Given the description of an element on the screen output the (x, y) to click on. 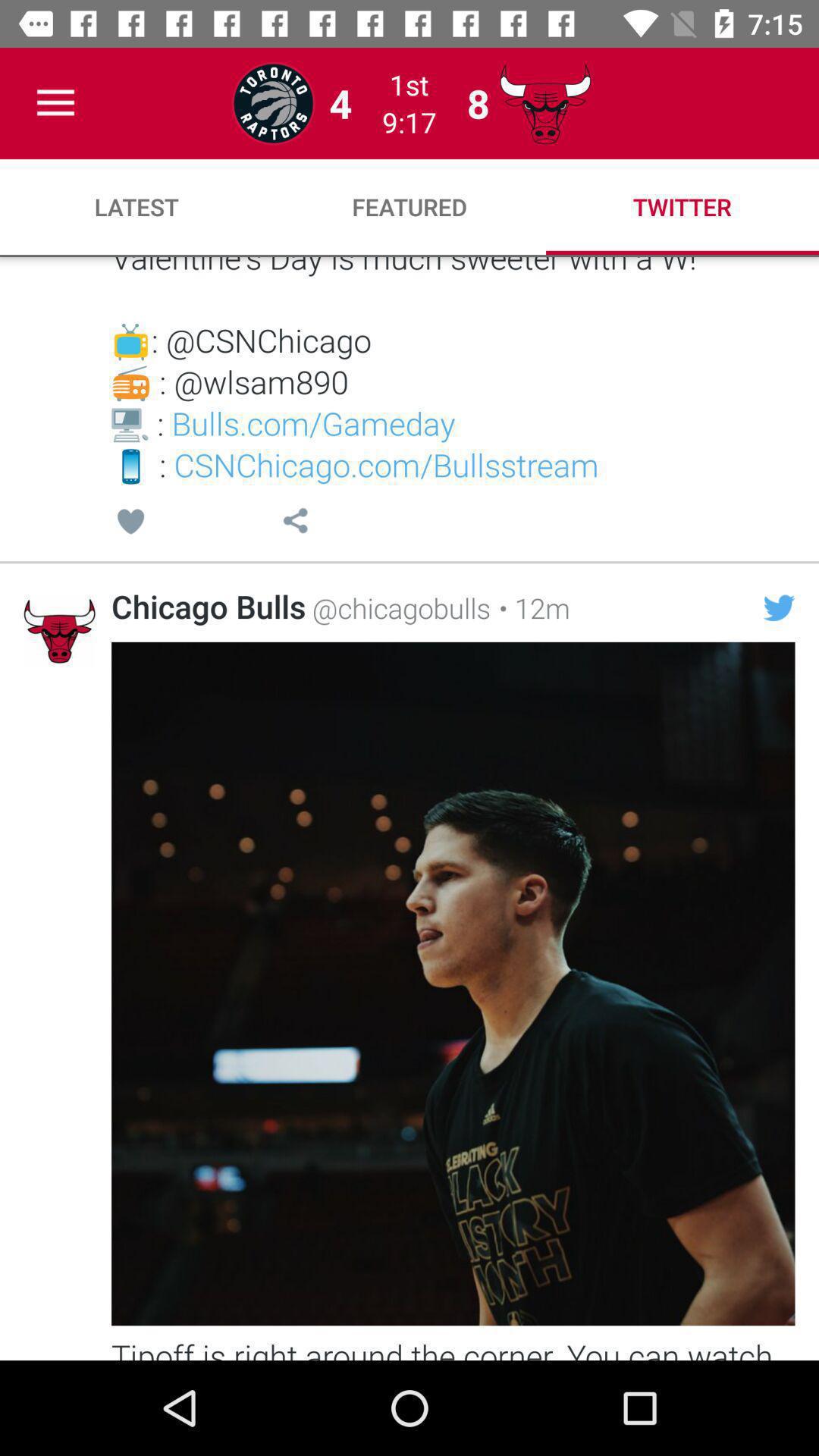
turn on the item on the right (779, 607)
